Given the description of an element on the screen output the (x, y) to click on. 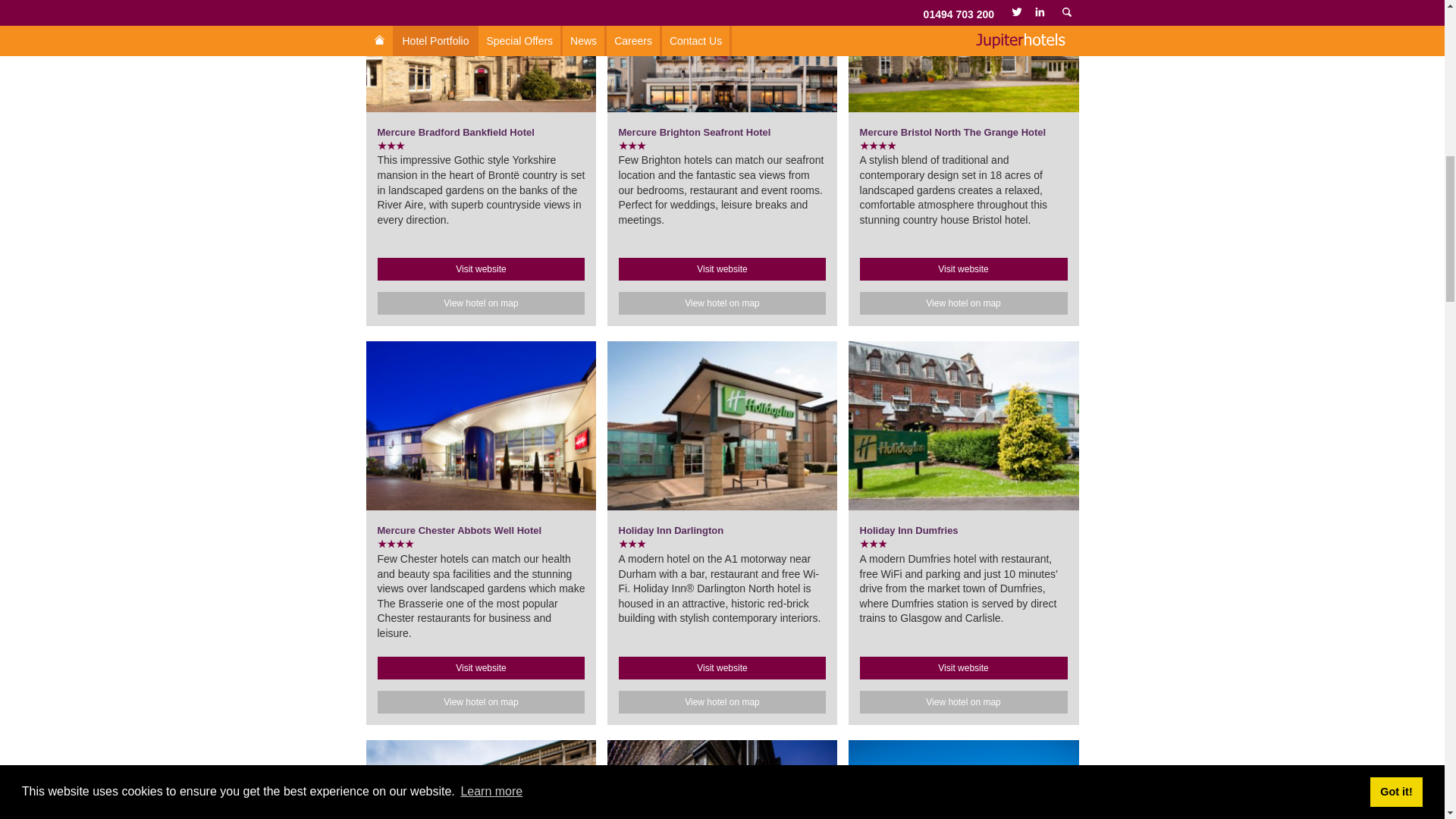
View hotel on map (481, 302)
Visit website (481, 268)
Mercure Bradford Bankfield Hotel (455, 132)
